Given the description of an element on the screen output the (x, y) to click on. 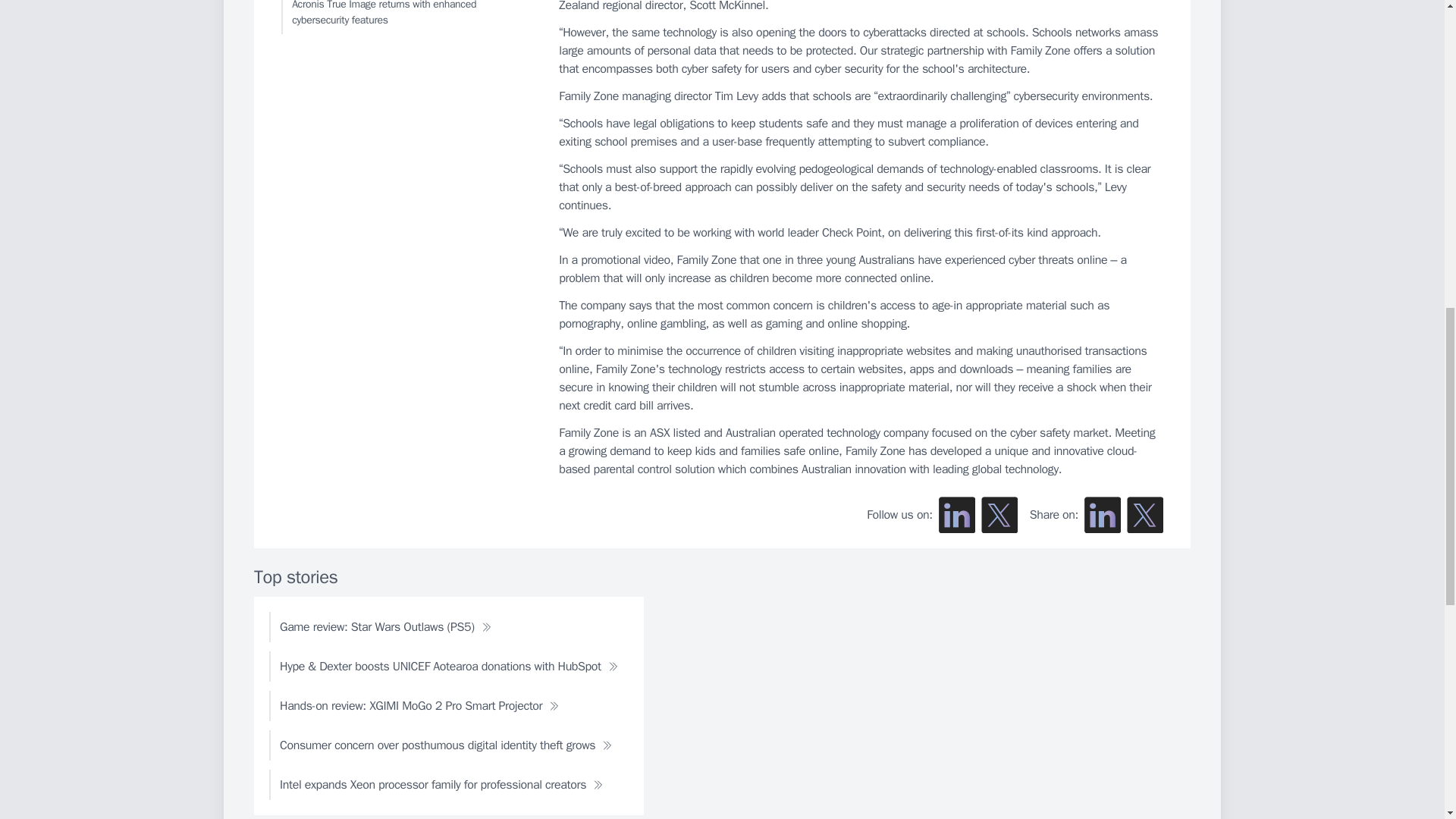
Hands-on review: XGIMI MoGo 2 Pro Smart Projector (419, 706)
